Given the description of an element on the screen output the (x, y) to click on. 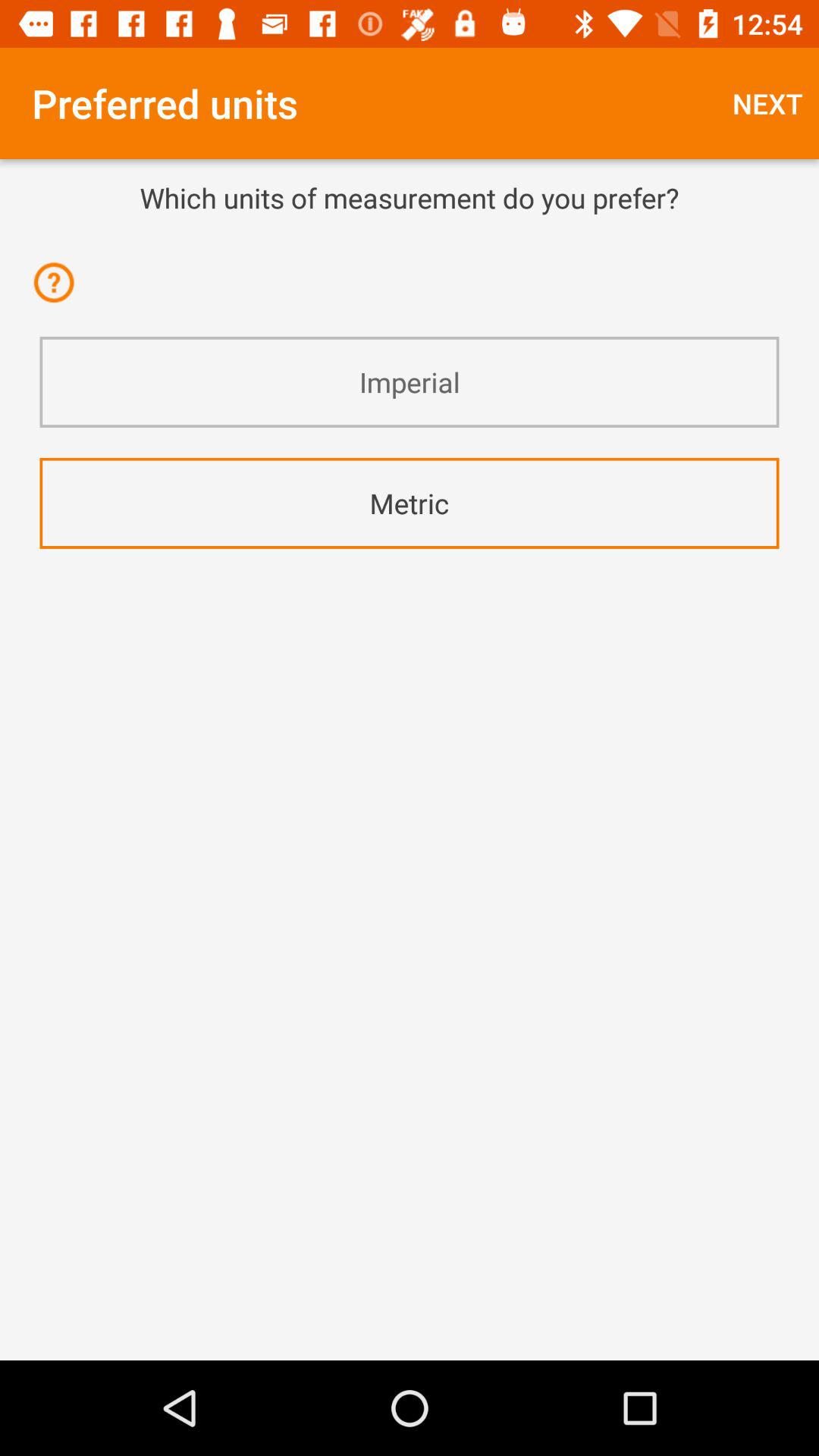
turn off the metric app (409, 503)
